Given the description of an element on the screen output the (x, y) to click on. 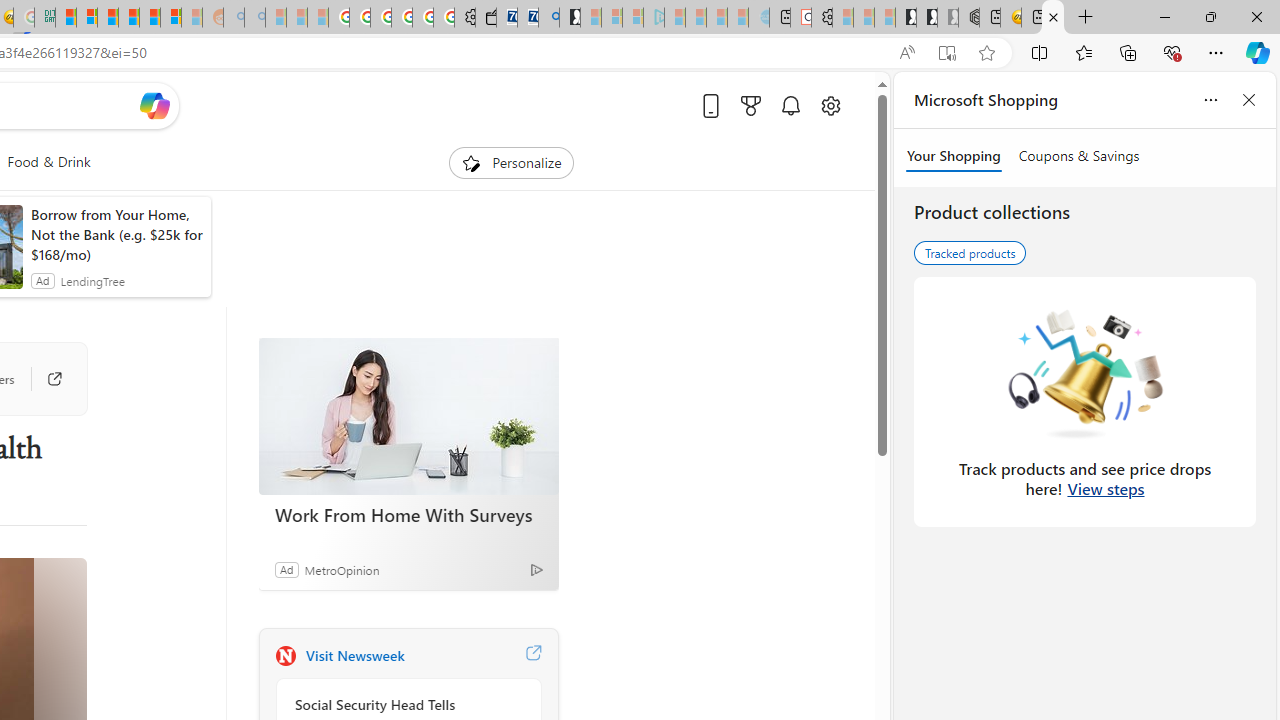
Visit Newsweek website (532, 655)
Personalize (511, 162)
Food & Drink (48, 162)
Cheap Car Rentals - Save70.com (527, 17)
Kinda Frugal - MSN (149, 17)
Play Free Online Games | Games from Microsoft Start (906, 17)
Settings and more (Alt+F) (1215, 52)
Expert Portfolios (129, 17)
MetroOpinion (341, 569)
